Given the description of an element on the screen output the (x, y) to click on. 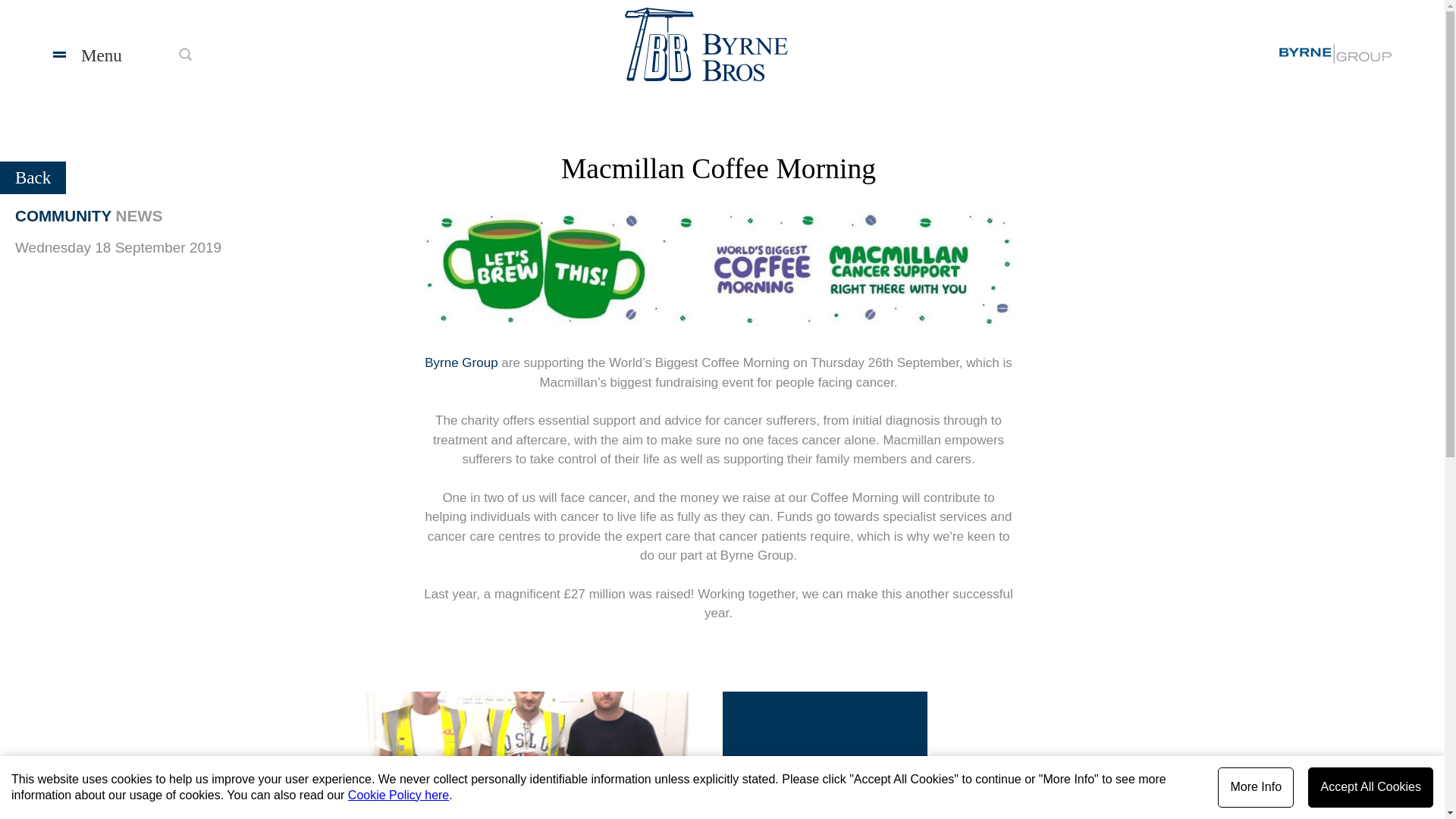
Cookie Policy (397, 794)
Byrne Group (461, 362)
